Given the description of an element on the screen output the (x, y) to click on. 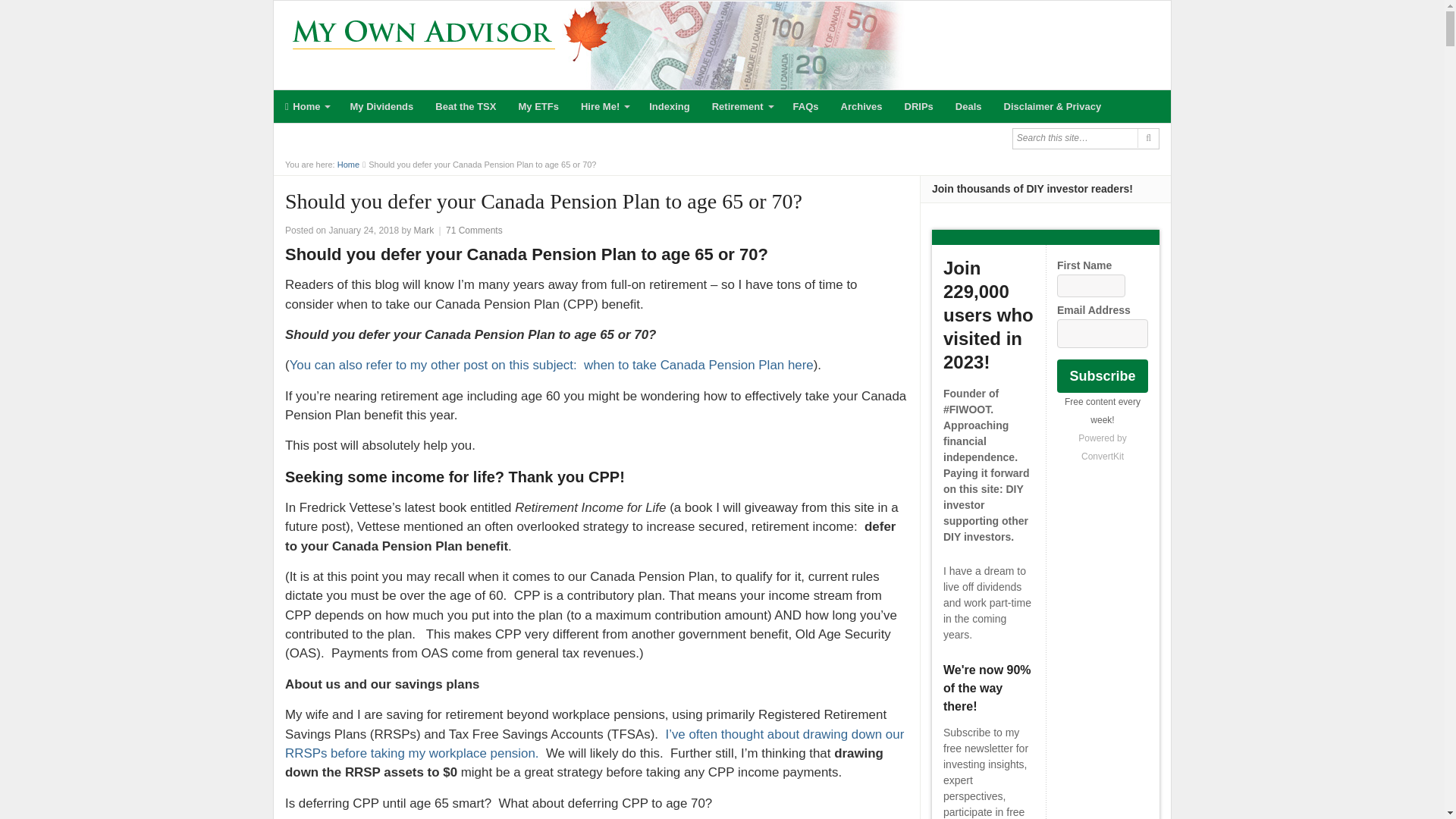
My ETFs (537, 106)
FAQs (805, 106)
Indexing (668, 106)
Archives (861, 106)
My Dividends (381, 106)
DRIPs (918, 106)
Home (306, 106)
Beat the TSX (464, 106)
Retirement (741, 106)
My Own Advisor (348, 163)
